Given the description of an element on the screen output the (x, y) to click on. 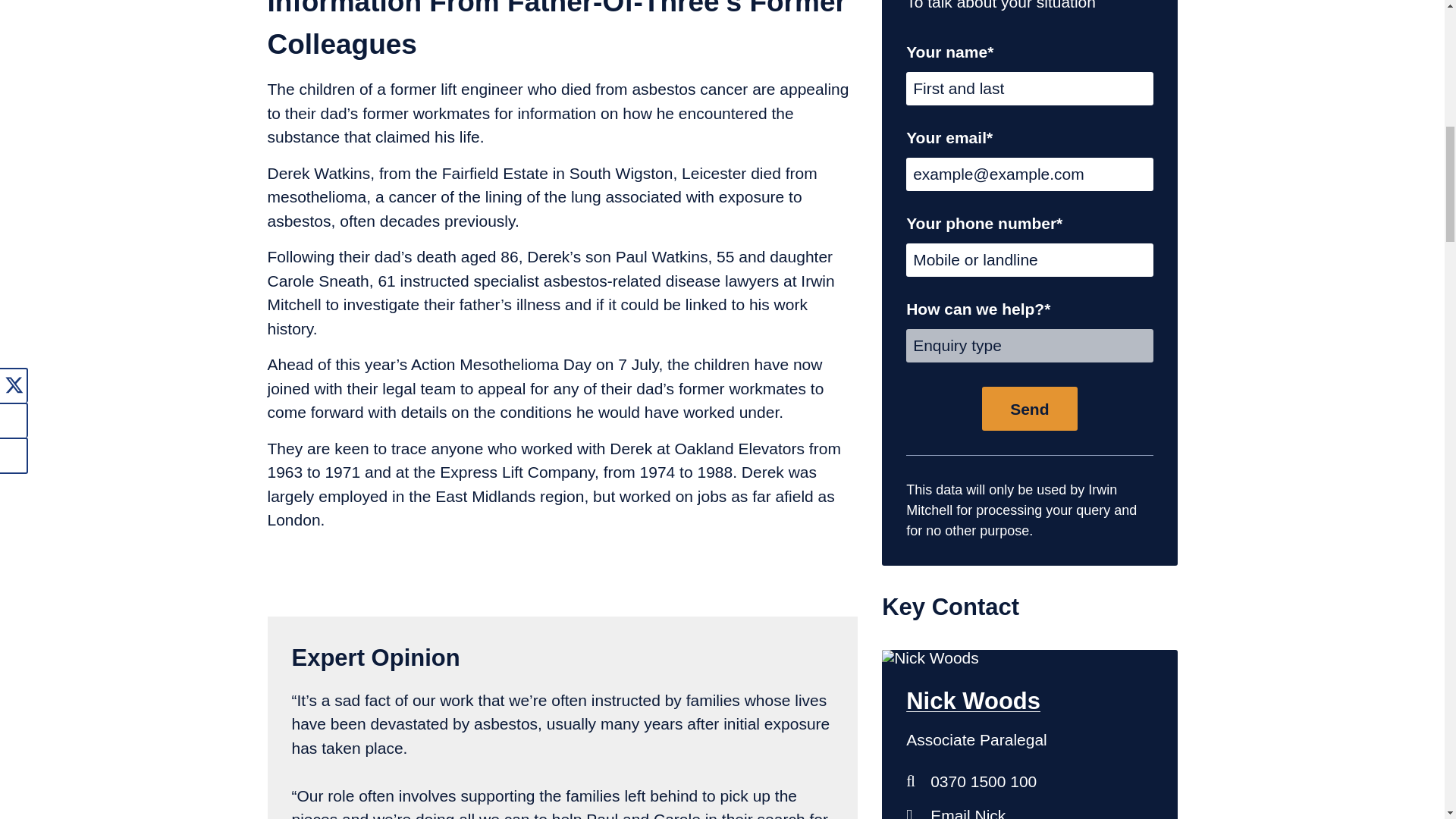
Contact Nick Woods (1029, 808)
